Given the description of an element on the screen output the (x, y) to click on. 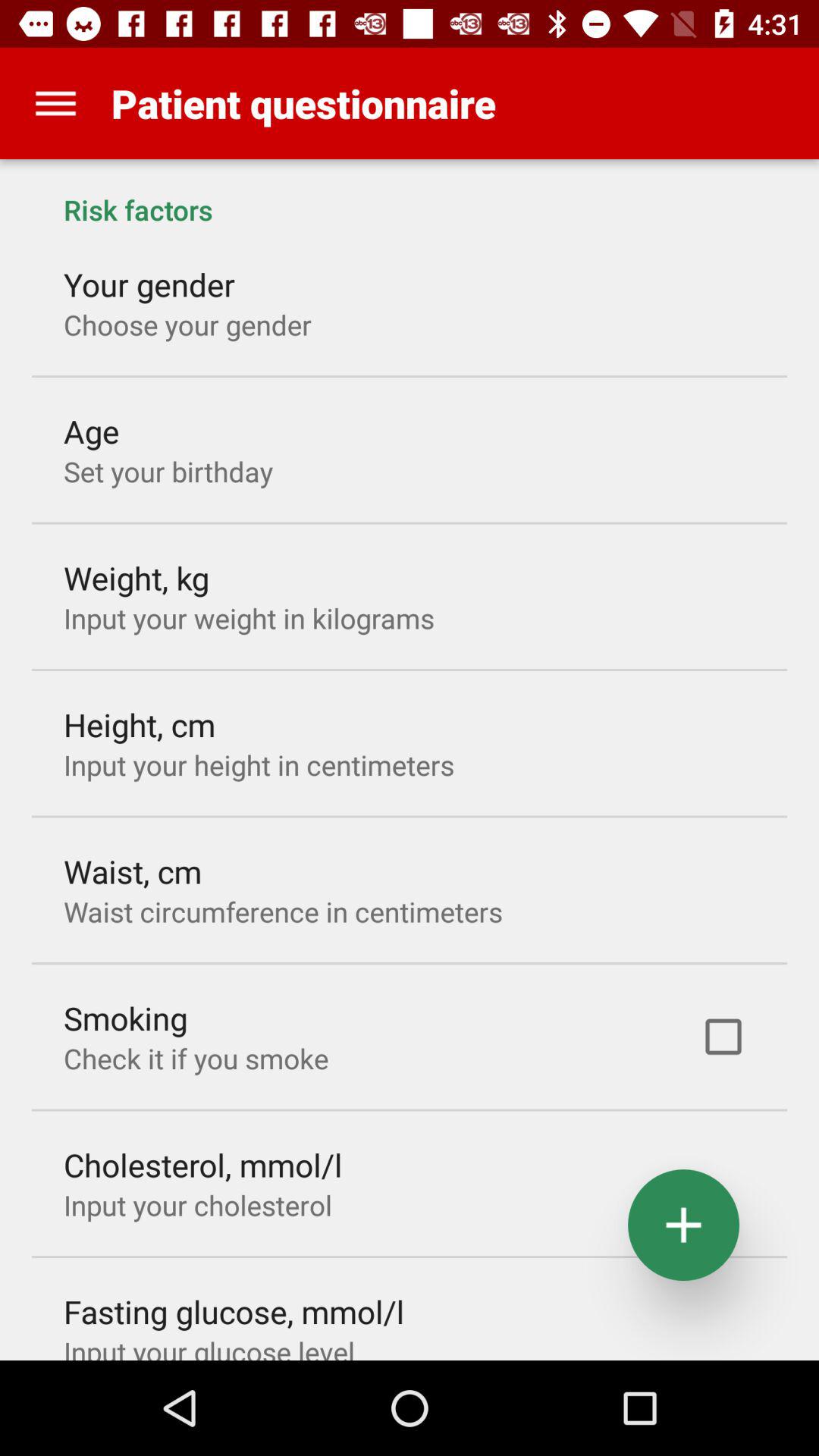
turn off item below the risk factors app (723, 1036)
